Given the description of an element on the screen output the (x, y) to click on. 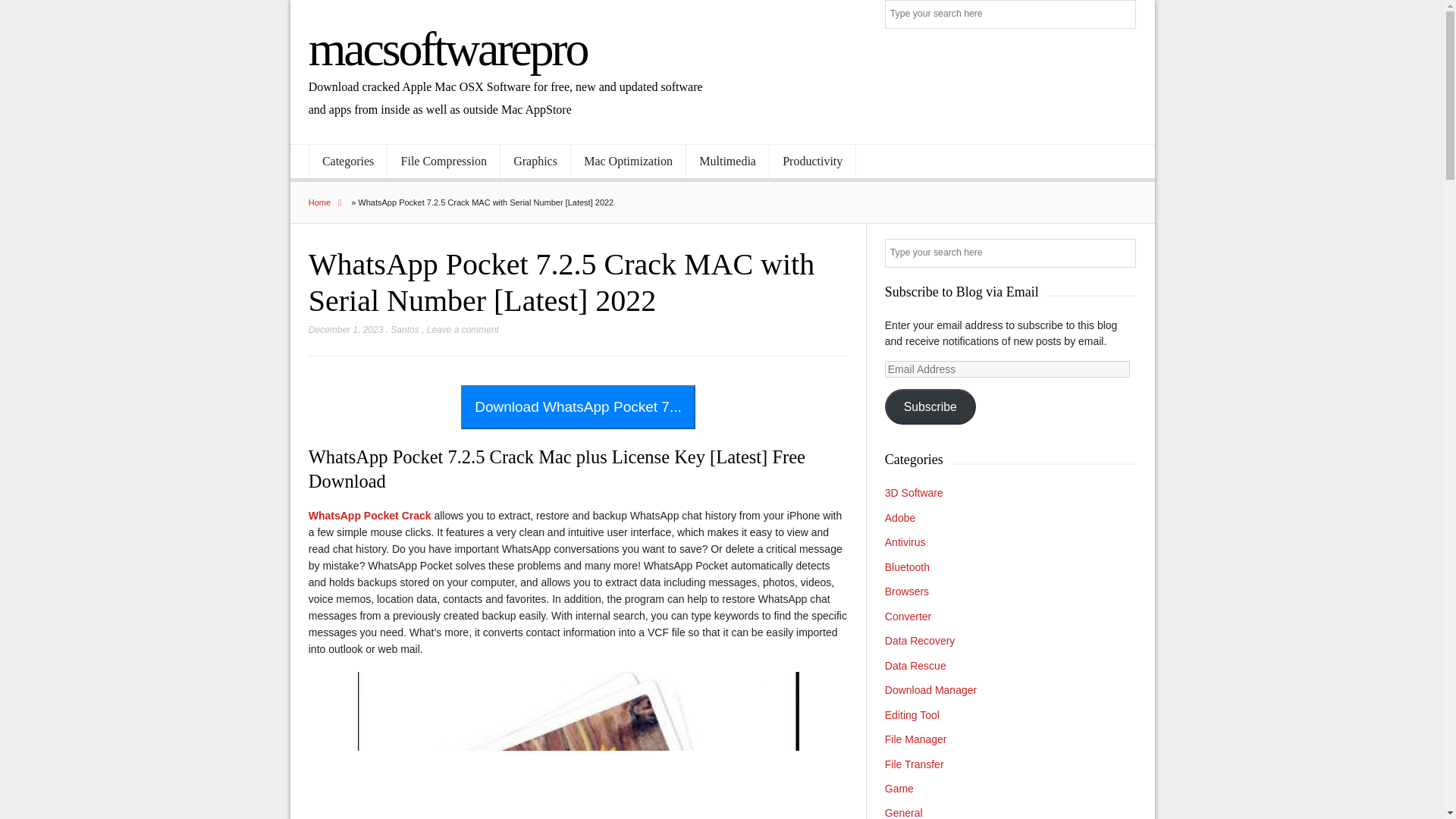
macsoftwarepro (447, 49)
Home (328, 202)
Graphics (535, 161)
Productivity (813, 161)
WhatsApp Pocket Crack (369, 515)
Categories (347, 161)
Download WhatsApp Pocket 7... (577, 406)
Santos (404, 329)
File Compression (443, 161)
Multimedia (726, 161)
Posts by Santos (404, 329)
Search (1123, 15)
Download WhatsApp Pocket 7... (577, 408)
Mac Optimization (627, 161)
Leave a comment (462, 329)
